Given the description of an element on the screen output the (x, y) to click on. 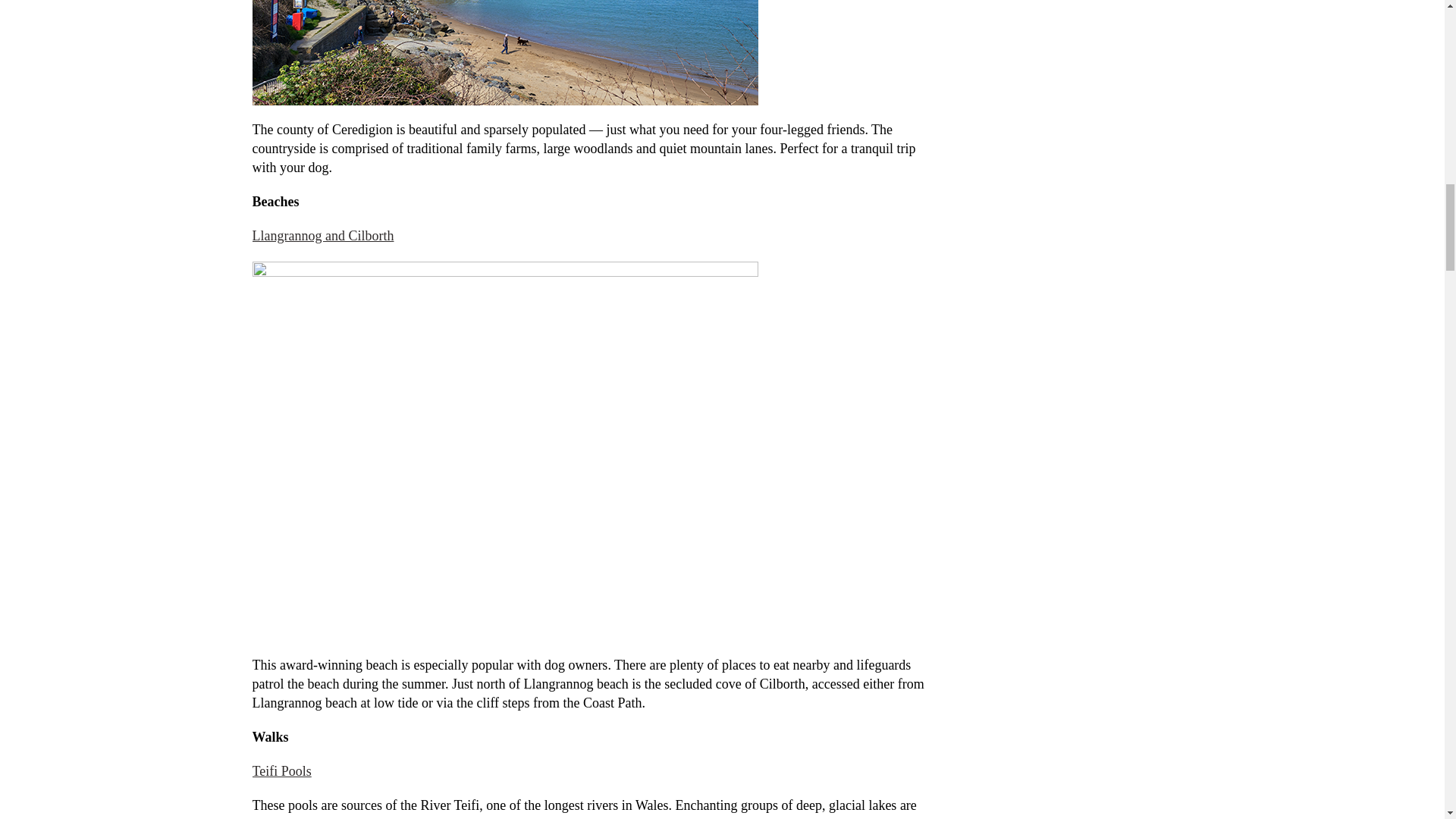
Teifi Pools (281, 770)
Llangrannog and Cilborth (322, 235)
